Given the description of an element on the screen output the (x, y) to click on. 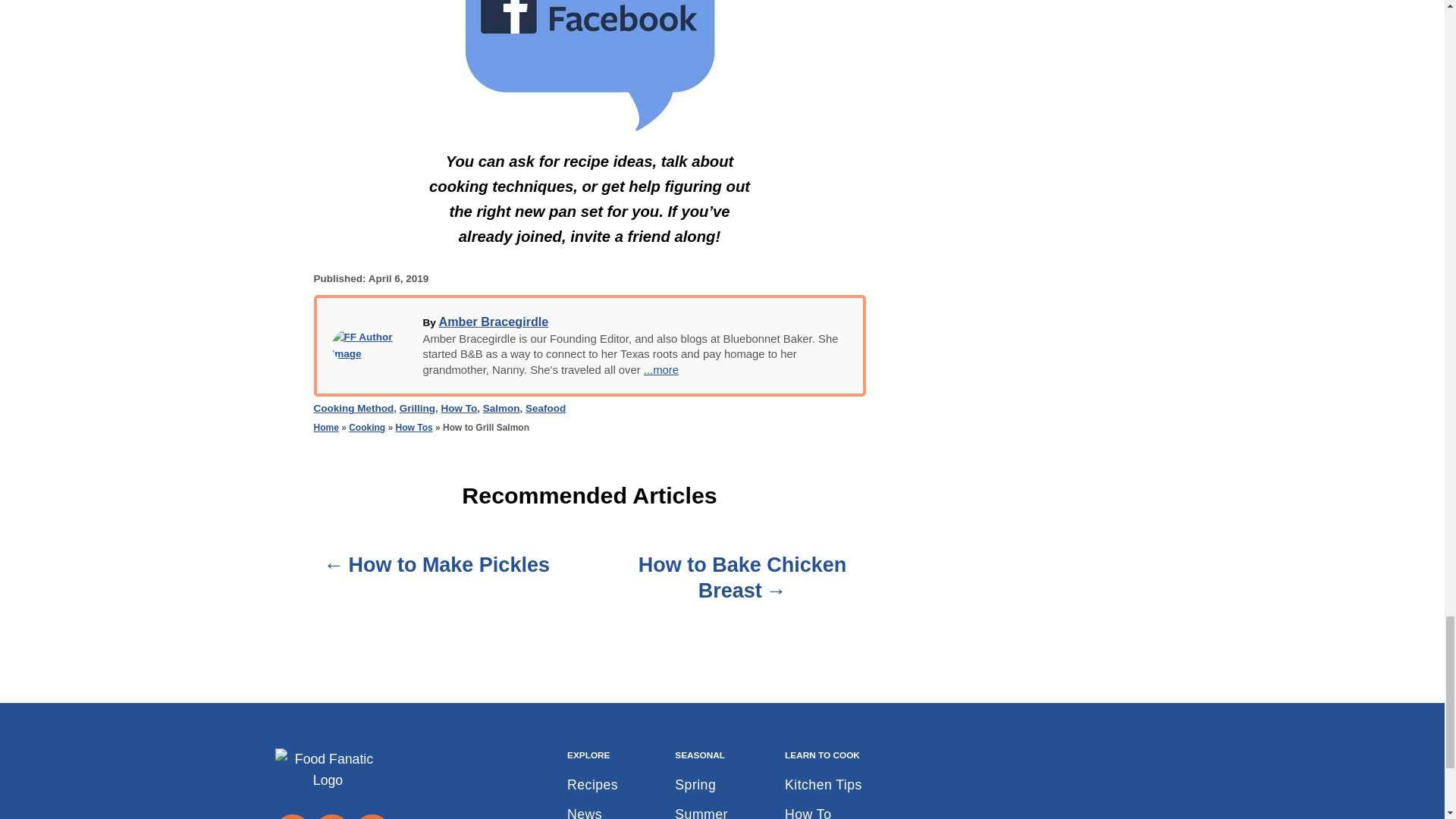
Follow on Facebook (291, 816)
Follow on Pinterest (331, 816)
Follow on Instagram (372, 816)
